Given the description of an element on the screen output the (x, y) to click on. 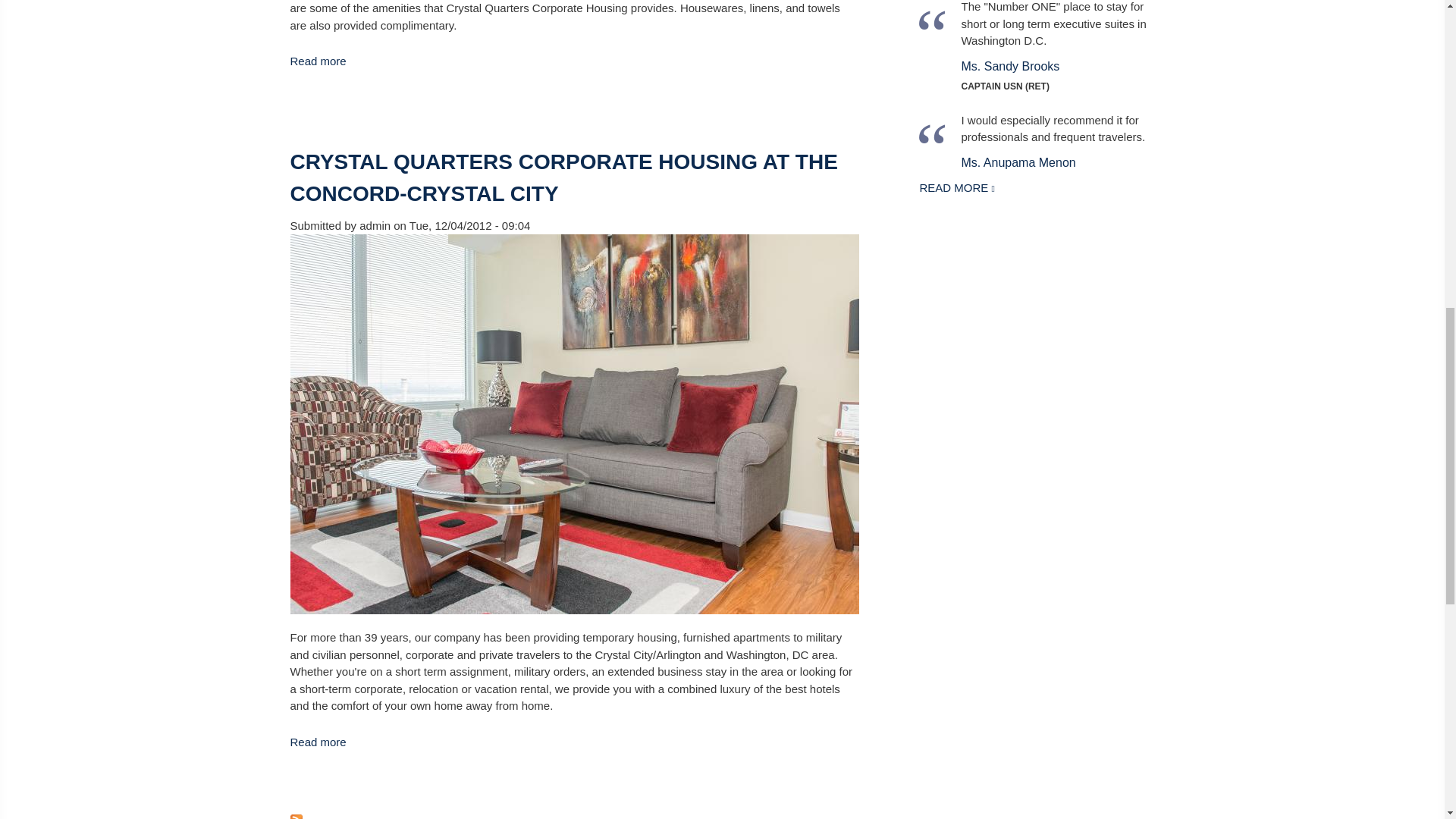
Subscribe to RSS - The Concord (574, 815)
The Concord (317, 60)
